Given the description of an element on the screen output the (x, y) to click on. 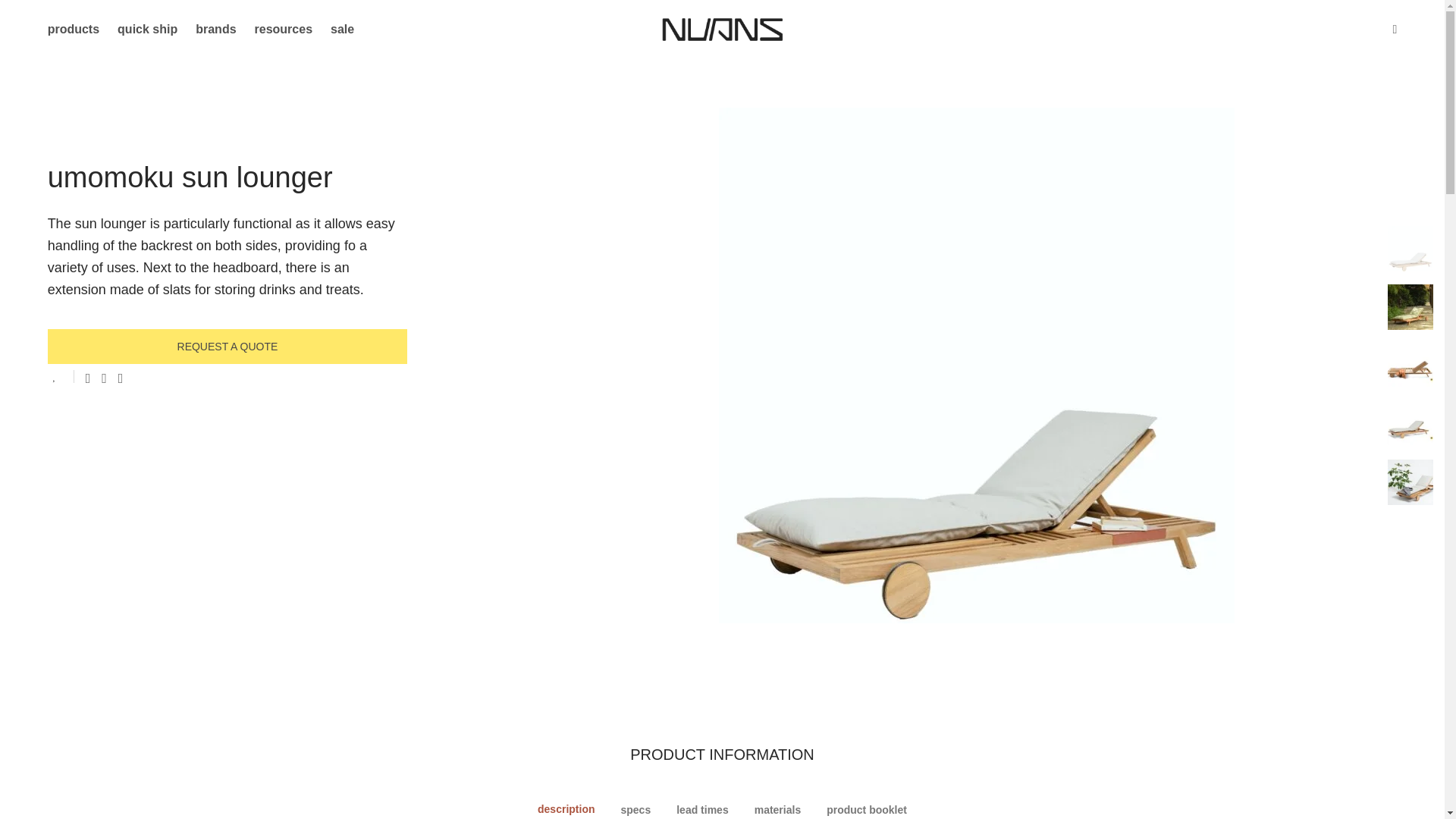
brands (215, 29)
Add to Wishlist (61, 376)
quick ship (146, 29)
products (73, 29)
